Given the description of an element on the screen output the (x, y) to click on. 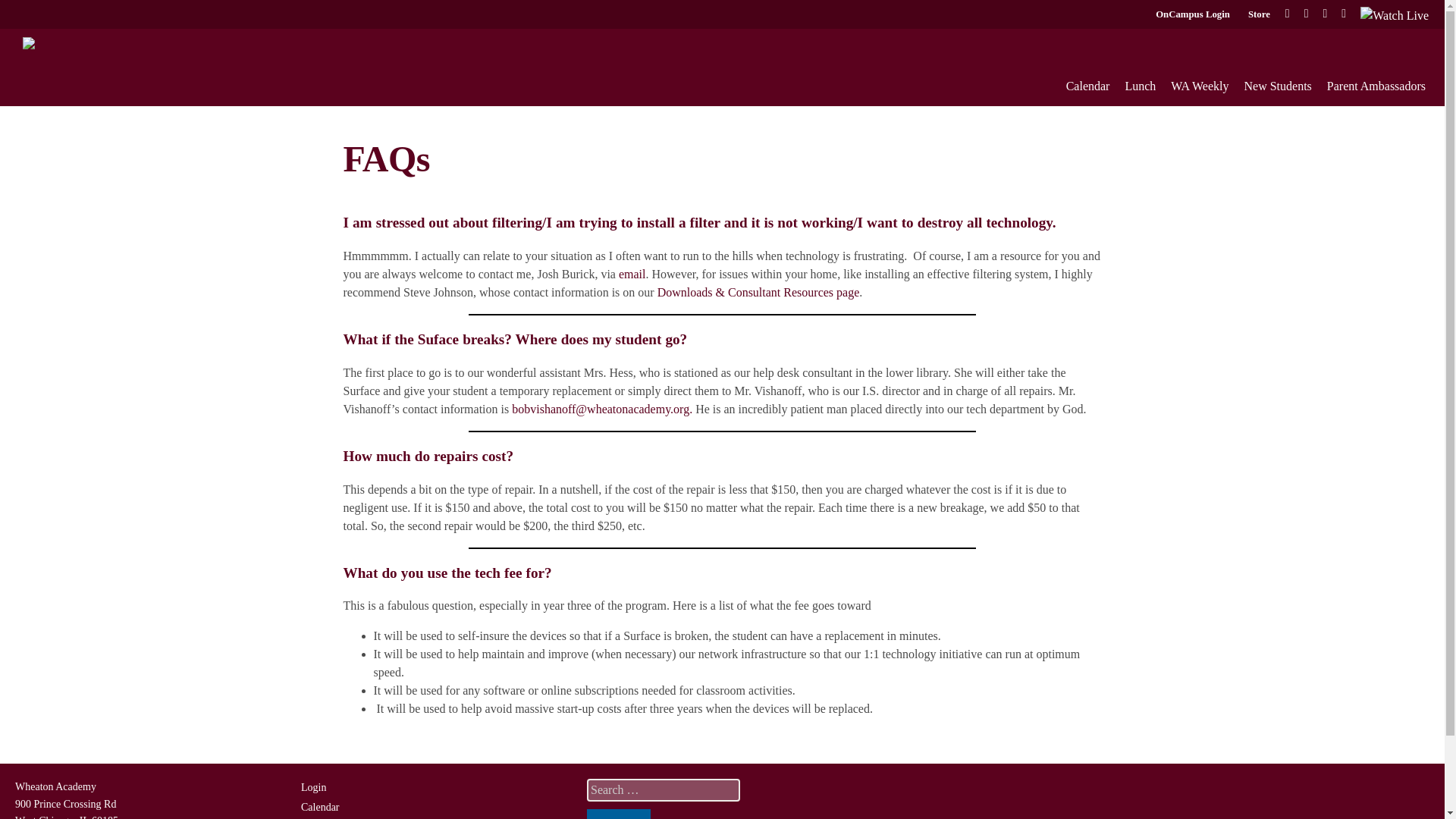
Login (313, 787)
Search (618, 814)
WA Weekly (1199, 85)
email (632, 273)
Parent Ambassadors (1375, 85)
Search (618, 814)
Calendar (1087, 85)
Lunch (1140, 85)
Store (1258, 14)
Calendar (320, 807)
